Given the description of an element on the screen output the (x, y) to click on. 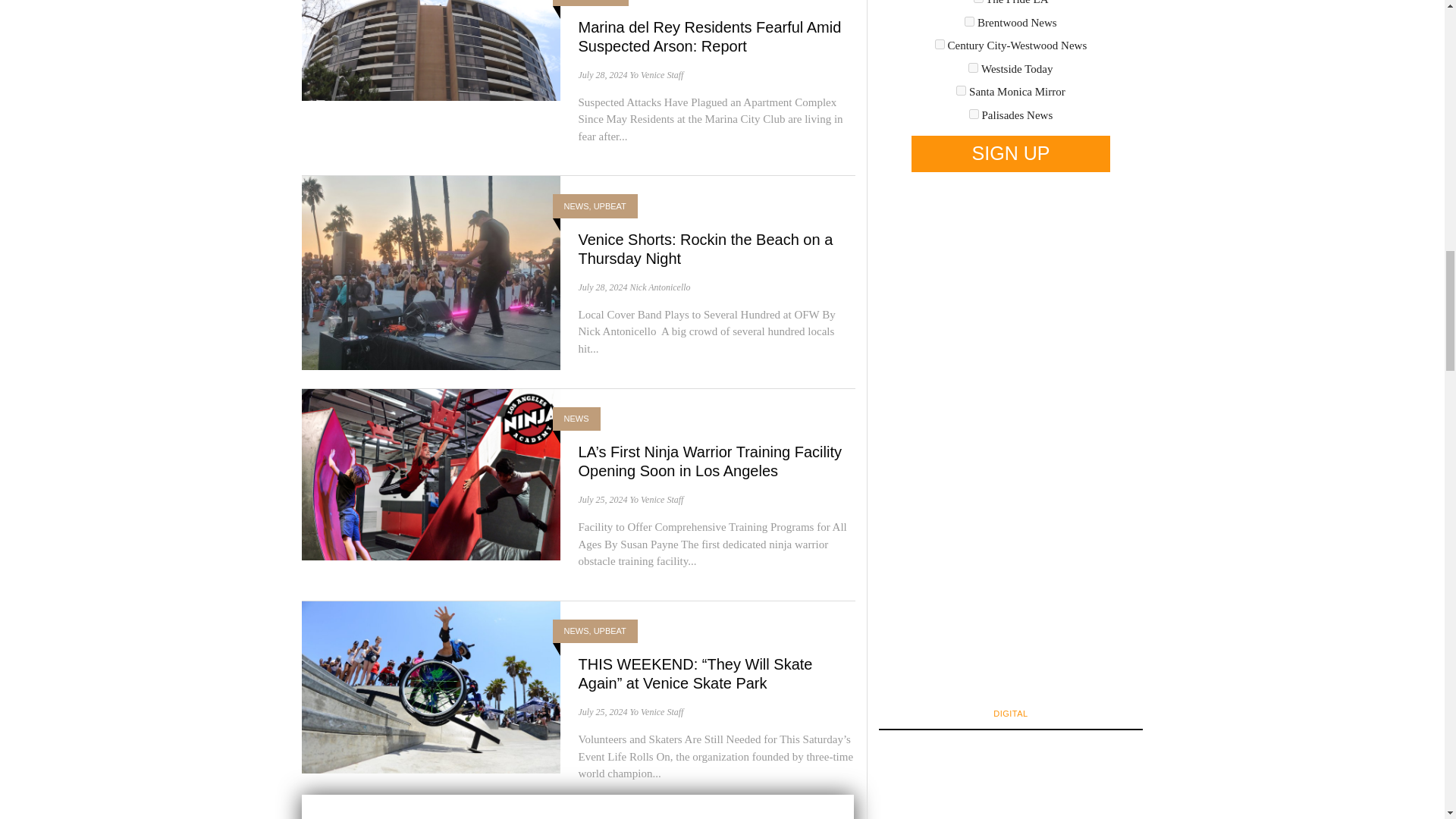
d0b5733862 (961, 90)
Sign up (1010, 153)
Posts by Yo Venice Staff (655, 74)
Venice Shorts: Rockin the Beach on a Thursday Night (705, 248)
a3d1b6d535 (973, 67)
5fac618226 (939, 44)
ec7d882848 (973, 113)
Posts by Nick Antonicello (659, 286)
33f79e7e4d (979, 1)
Venice Shorts: Rockin the Beach on a Thursday Night (430, 271)
382281a661 (968, 21)
Posts by Yo Venice Staff (655, 499)
